Given the description of an element on the screen output the (x, y) to click on. 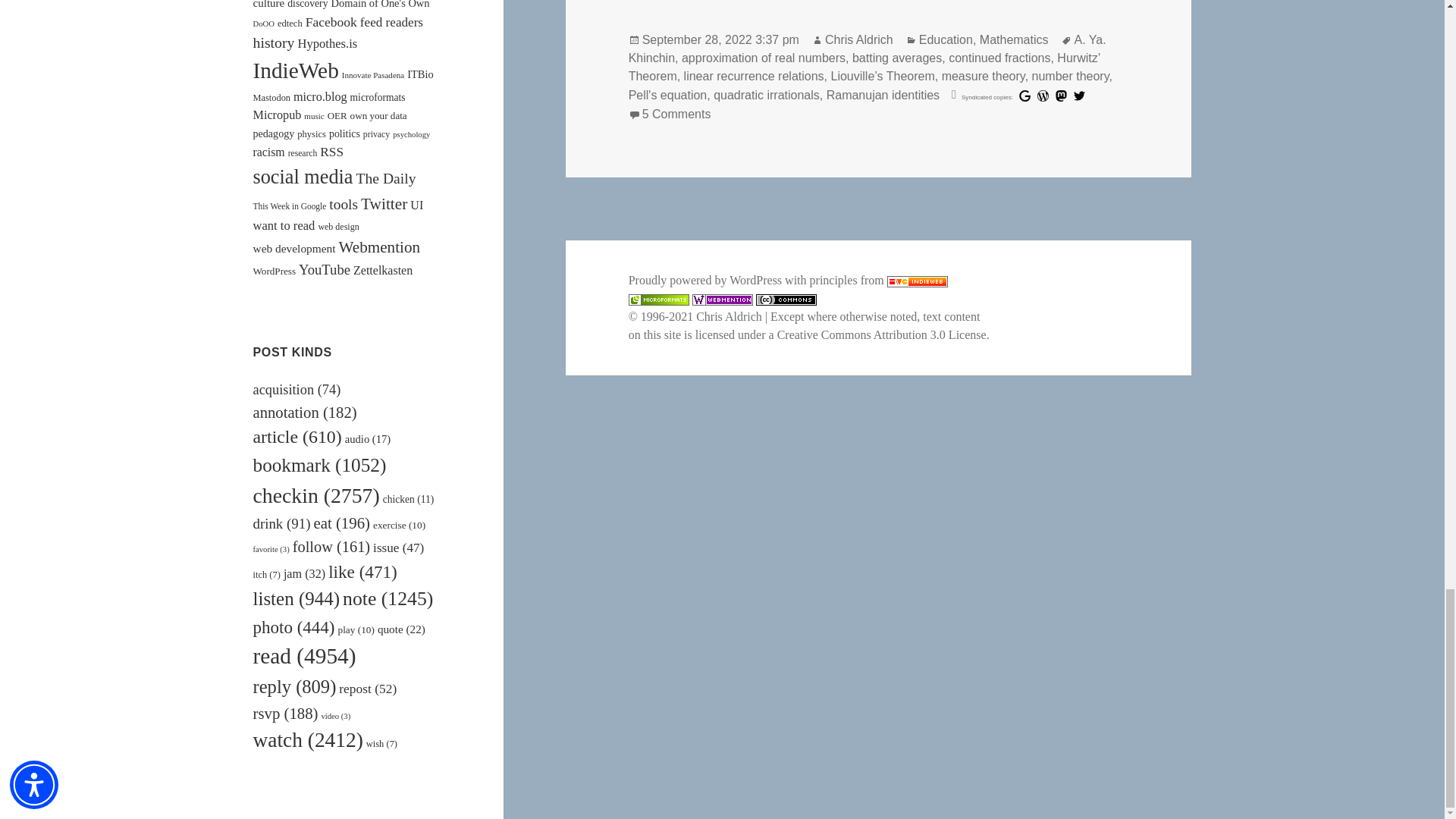
WordPress (1042, 95)
Mastodon (1061, 95)
Google (1024, 95)
Twitter (1079, 95)
